Given the description of an element on the screen output the (x, y) to click on. 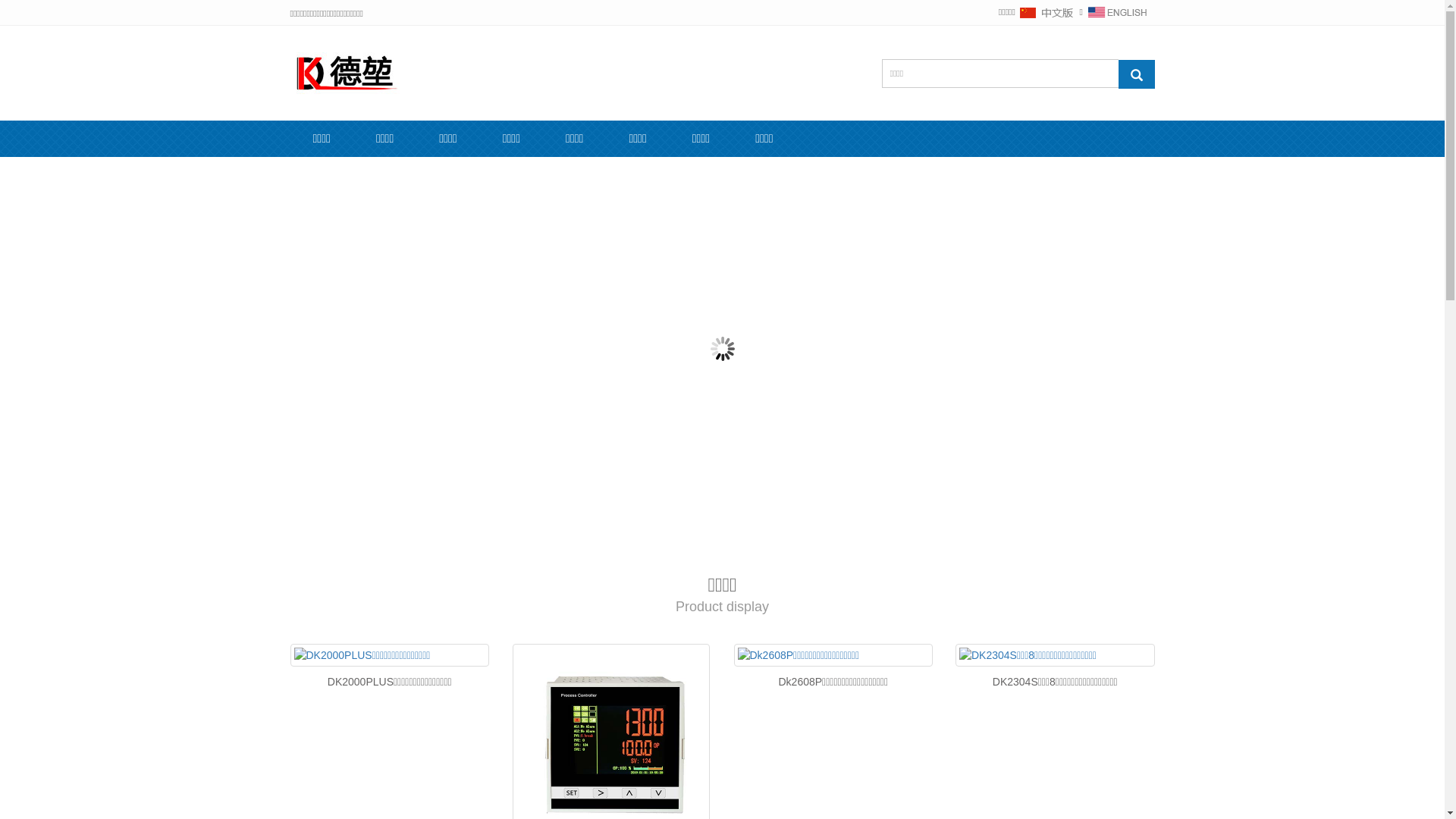
6 Element type: text (755, 516)
5 Element type: text (742, 516)
4 Element type: text (728, 516)
English Element type: hover (1116, 11)
1 Element type: text (687, 516)
3 Element type: text (714, 516)
2 Element type: text (701, 516)
